Given the description of an element on the screen output the (x, y) to click on. 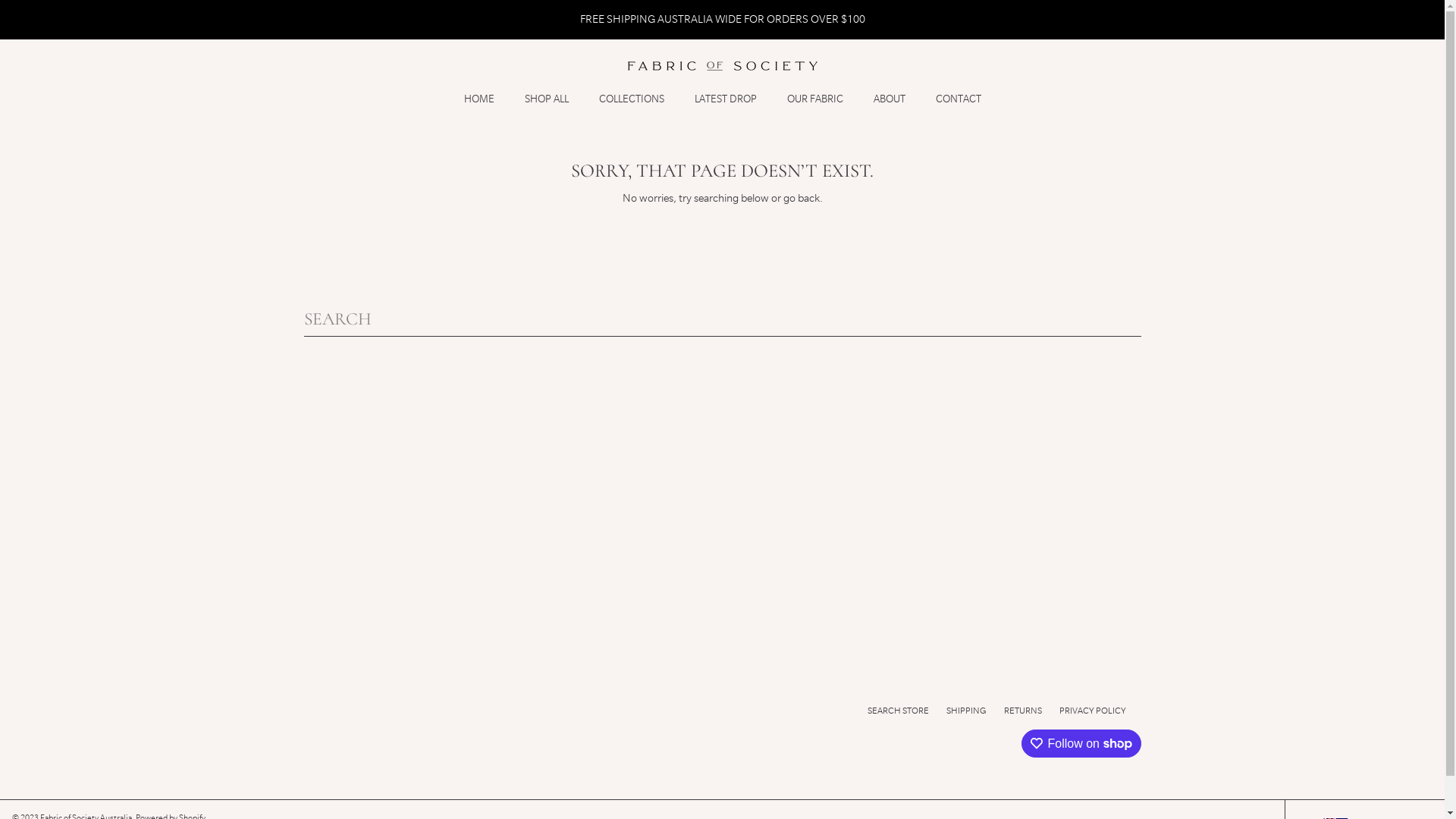
Login Element type: text (319, 65)
CONTACT Element type: text (958, 99)
OUR FABRIC Element type: text (814, 99)
ABOUT Element type: text (889, 99)
Cart Element type: text (1129, 65)
SKIP TO CONTENT Element type: text (92, 21)
RETURNS Element type: text (1022, 710)
PRIVACY POLICY Element type: text (1091, 710)
SHIPPING Element type: text (966, 710)
LATEST DROP Element type: text (725, 99)
SHOP ALL Element type: text (546, 99)
SEARCH STORE Element type: text (897, 710)
HOME Element type: text (478, 99)
COLLECTIONS Element type: text (631, 99)
